Given the description of an element on the screen output the (x, y) to click on. 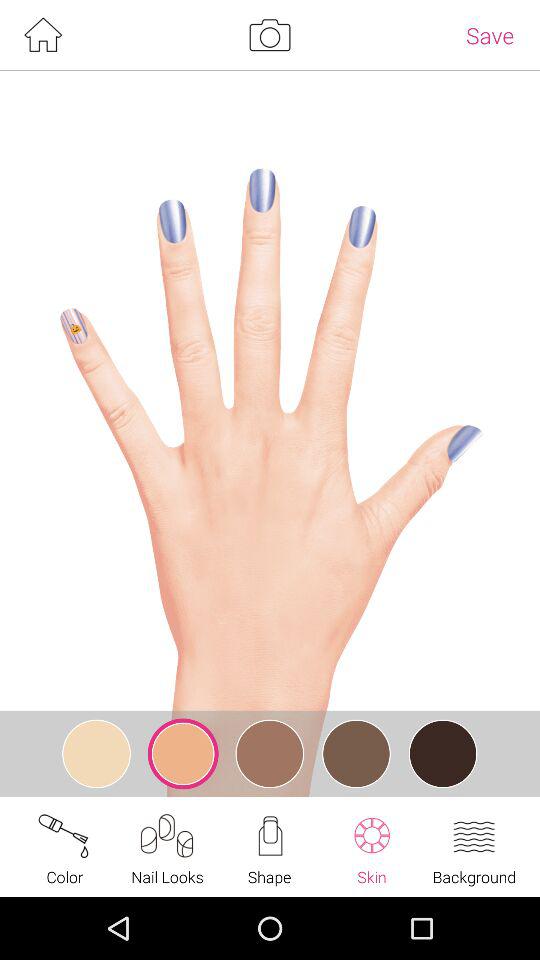
swipe until the save app (490, 35)
